Given the description of an element on the screen output the (x, y) to click on. 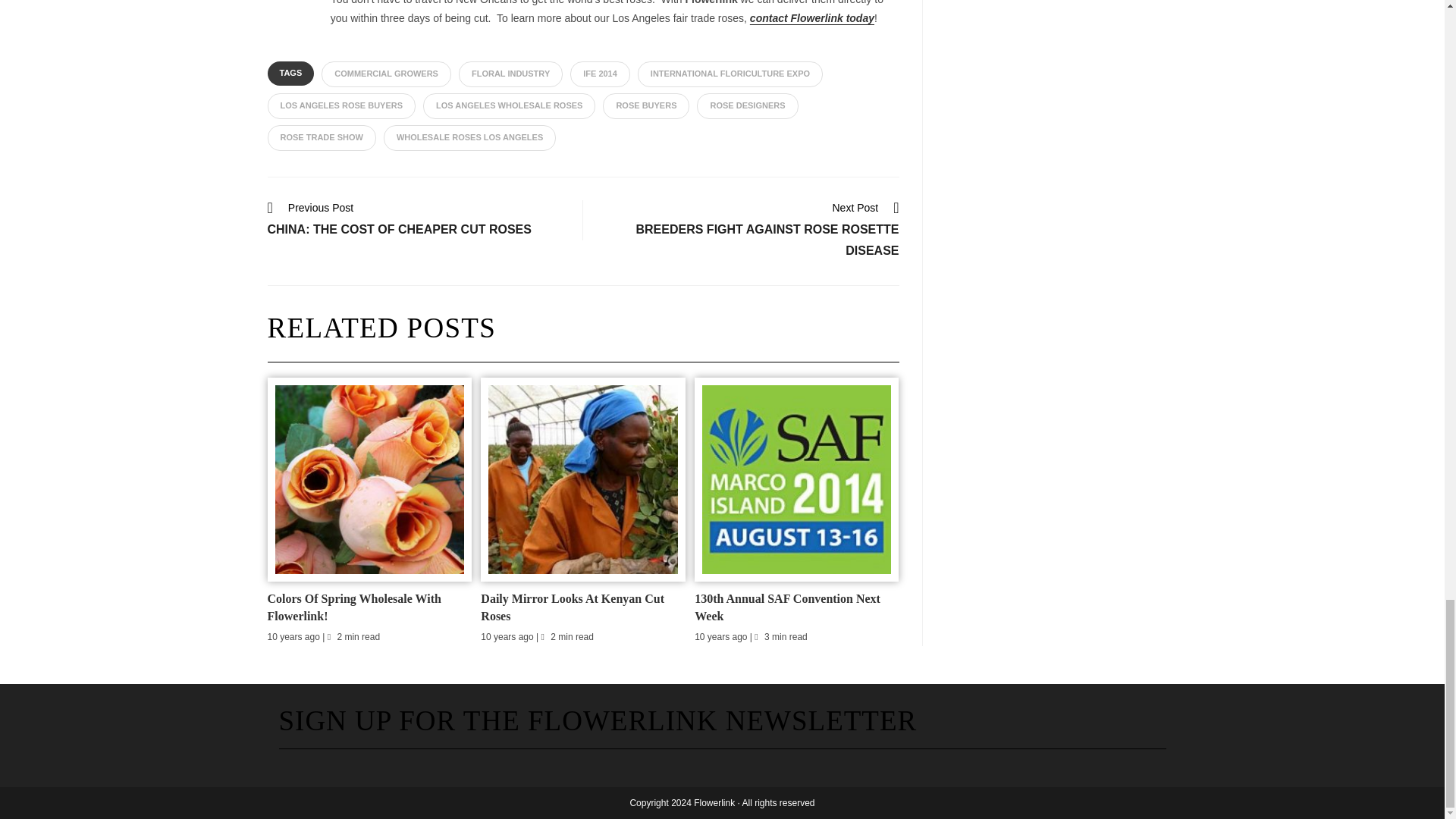
contact Flowerlink today (812, 18)
COMMERCIAL GROWERS (386, 73)
FLORAL INDUSTRY (510, 73)
